Given the description of an element on the screen output the (x, y) to click on. 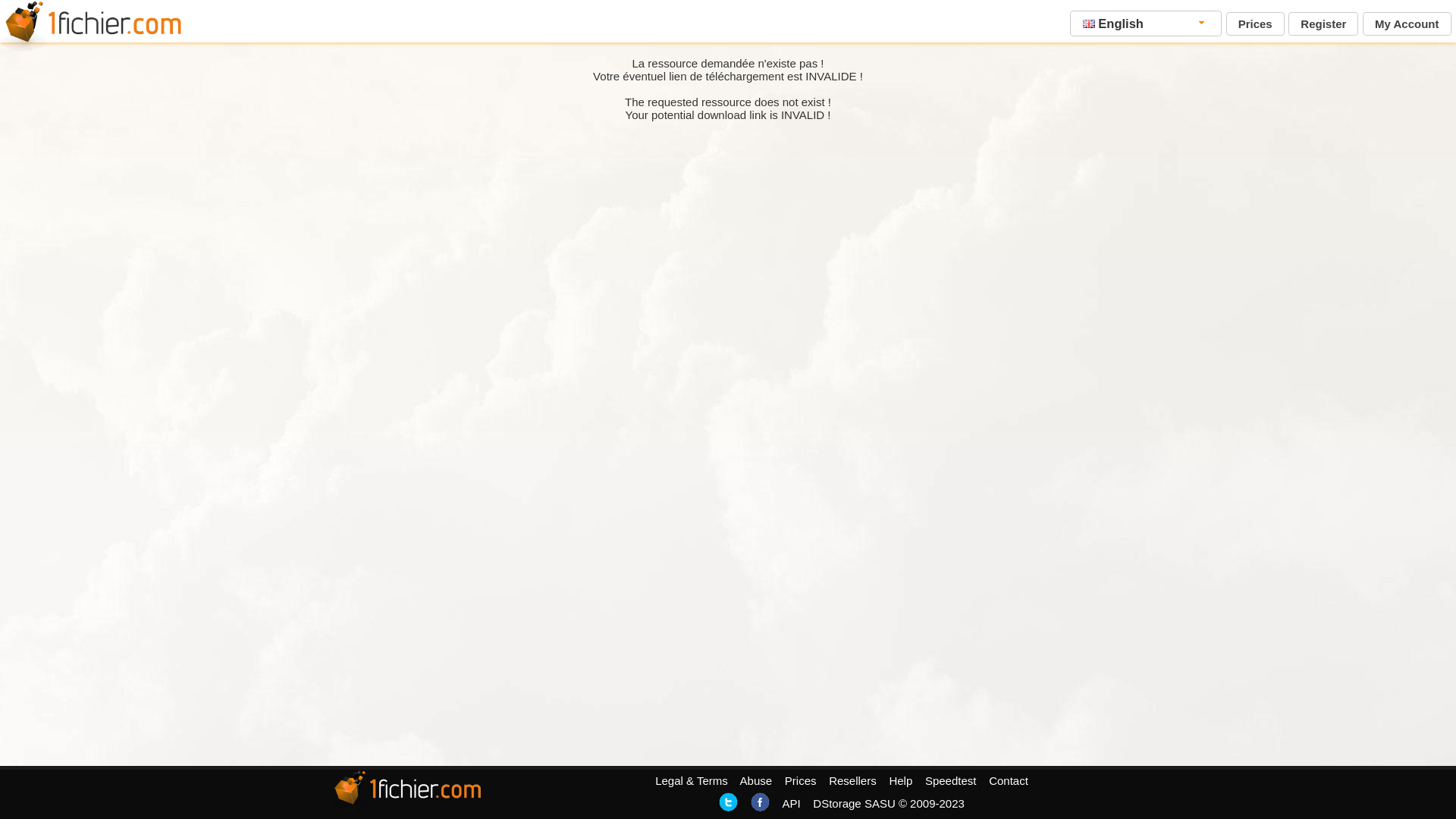
Help Element type: text (900, 780)
Contact Element type: text (1008, 780)
Prices Element type: text (800, 780)
Speedtest Element type: text (950, 780)
Register Element type: text (1323, 23)
My Account Element type: text (1406, 23)
Prices Element type: text (1255, 23)
Abuse Element type: text (756, 780)
Resellers Element type: text (852, 780)
Legal & Terms Element type: text (691, 780)
API Element type: text (790, 803)
